Given the description of an element on the screen output the (x, y) to click on. 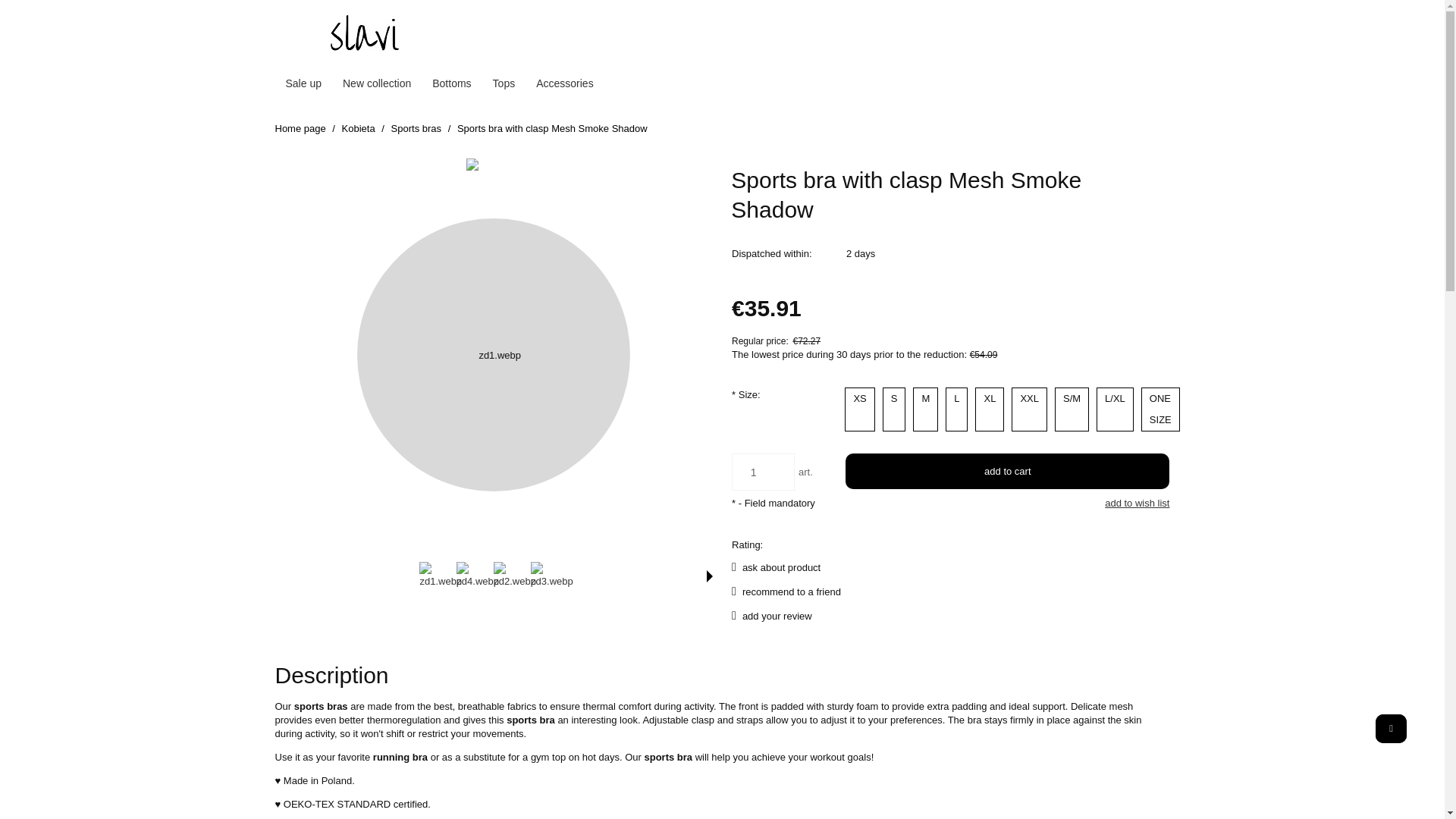
Accessories (564, 82)
zd3.webp (552, 574)
Accessories (564, 82)
Sale up (303, 82)
Tops (503, 82)
add to wish list (1137, 503)
add your review (772, 615)
recommend to a friend (786, 591)
zd1.webp (440, 574)
Cart (1135, 33)
add to cart (1007, 470)
New collection (376, 82)
zd2.webp (514, 574)
Home page (363, 33)
Home page (299, 128)
